Given the description of an element on the screen output the (x, y) to click on. 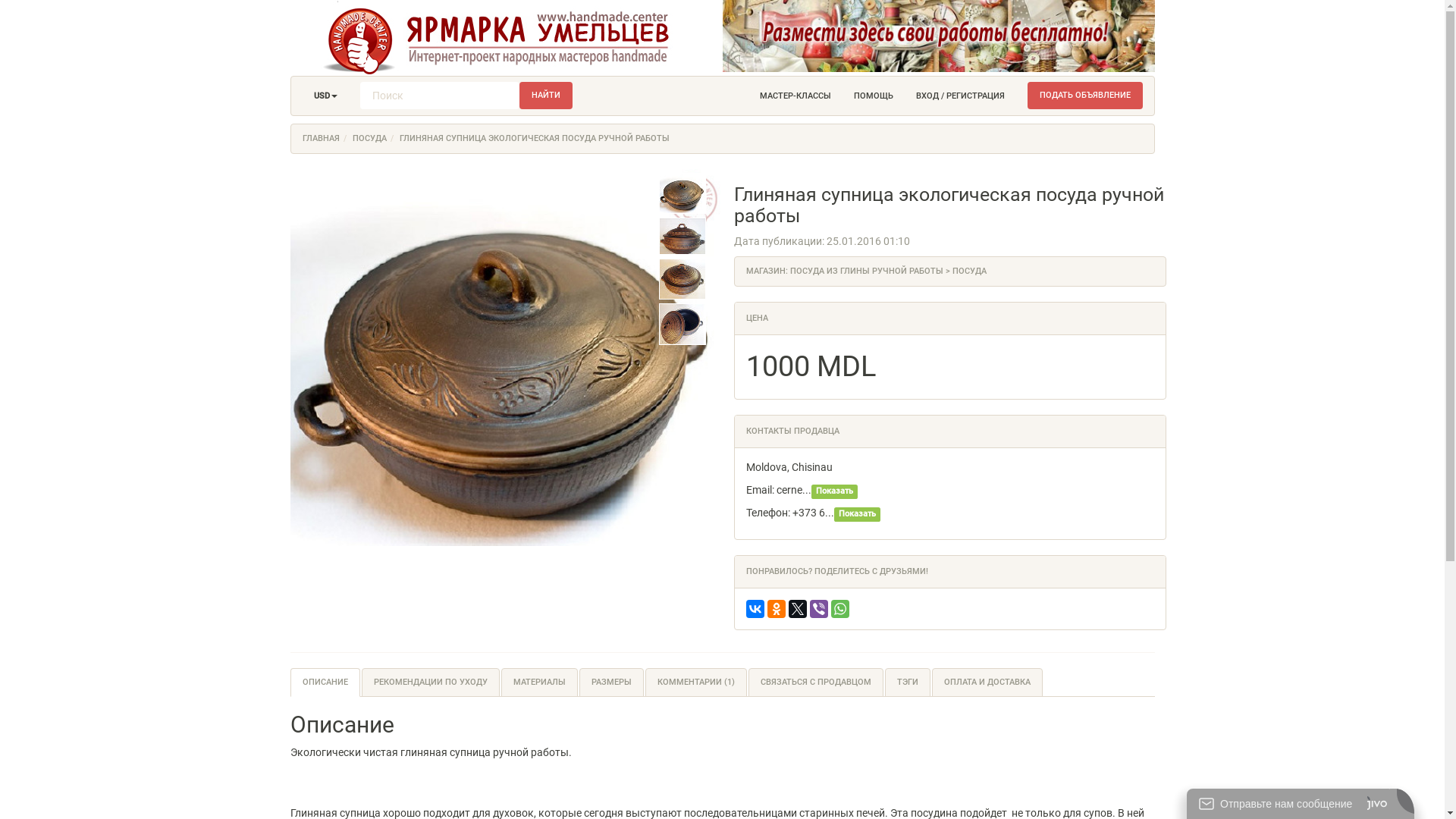
Viber Element type: hover (818, 608)
USD Element type: text (324, 96)
WhatsApp Element type: hover (840, 608)
Twitter Element type: hover (797, 608)
